Given the description of an element on the screen output the (x, y) to click on. 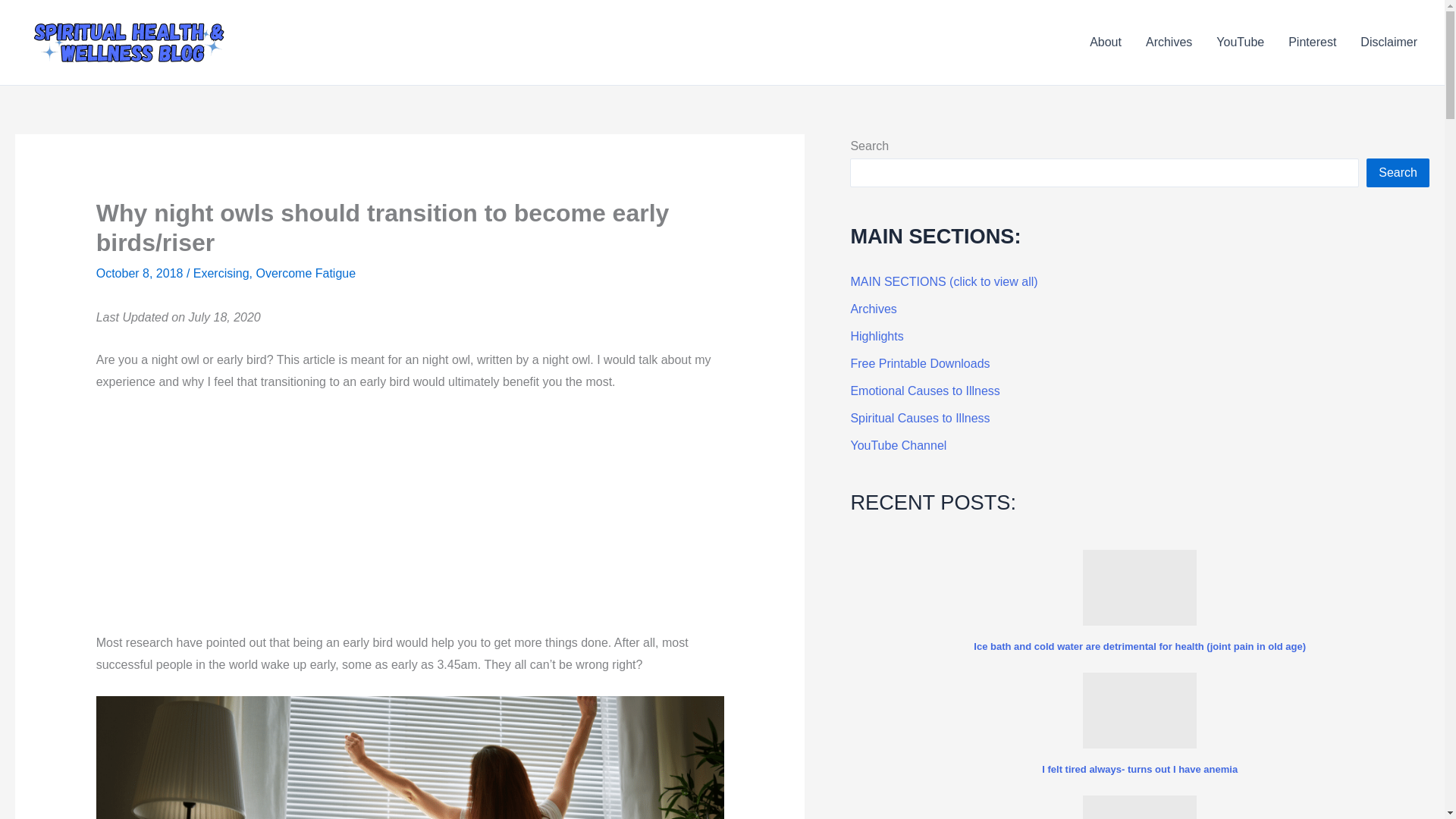
Spiritual Causes to Illness (920, 418)
About (1105, 42)
Disclaimer (1388, 42)
Highlights (876, 336)
YouTube (1240, 42)
Overcome Fatigue (306, 273)
Free Printable Downloads (920, 363)
Archives (873, 308)
YouTube Channel (898, 445)
Search (1398, 172)
Emotional Causes to Illness (924, 390)
Archives (1169, 42)
Pinterest (1312, 42)
Exercising (220, 273)
